Given the description of an element on the screen output the (x, y) to click on. 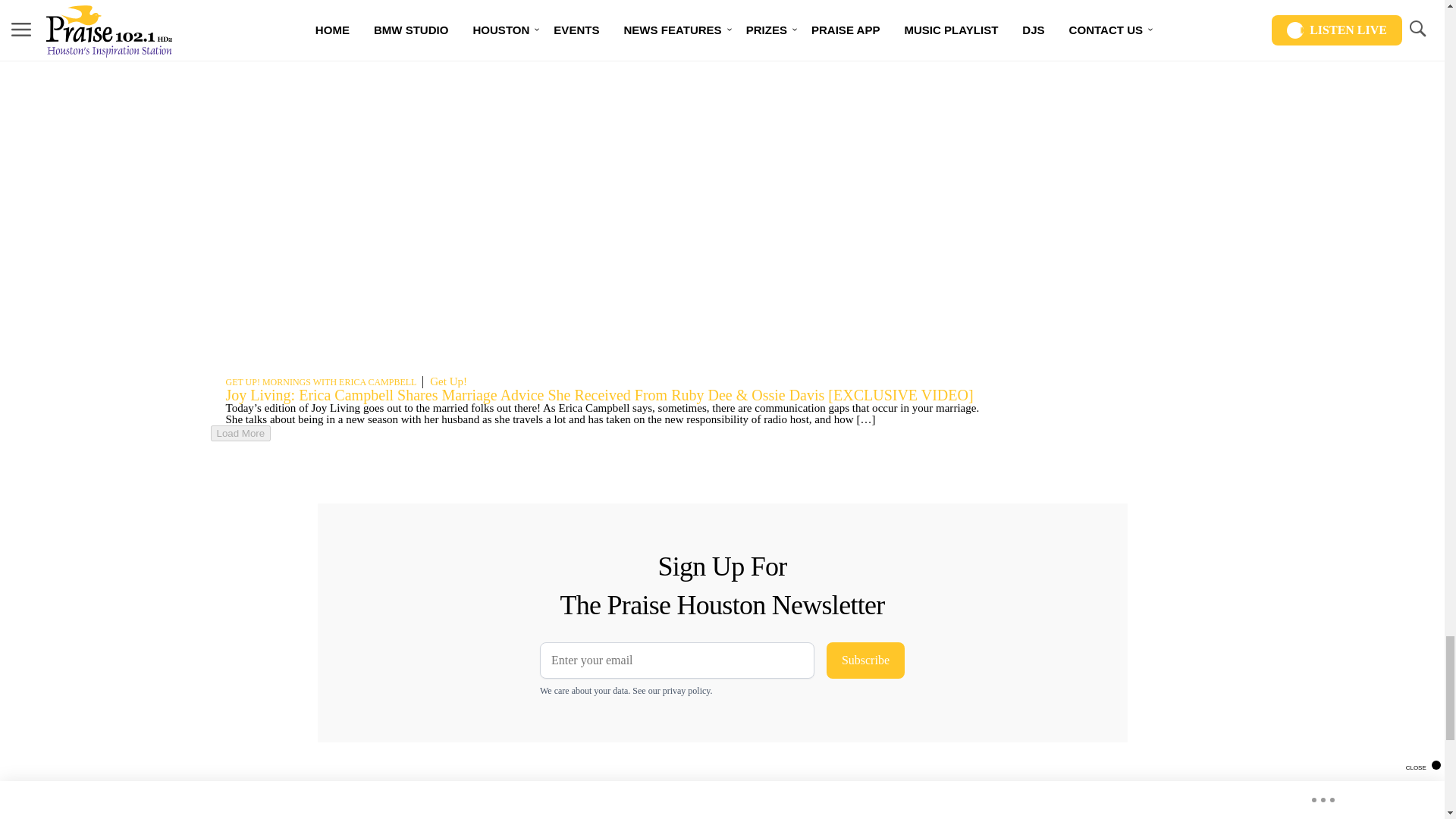
Load More (596, 433)
Load More (240, 433)
